Given the description of an element on the screen output the (x, y) to click on. 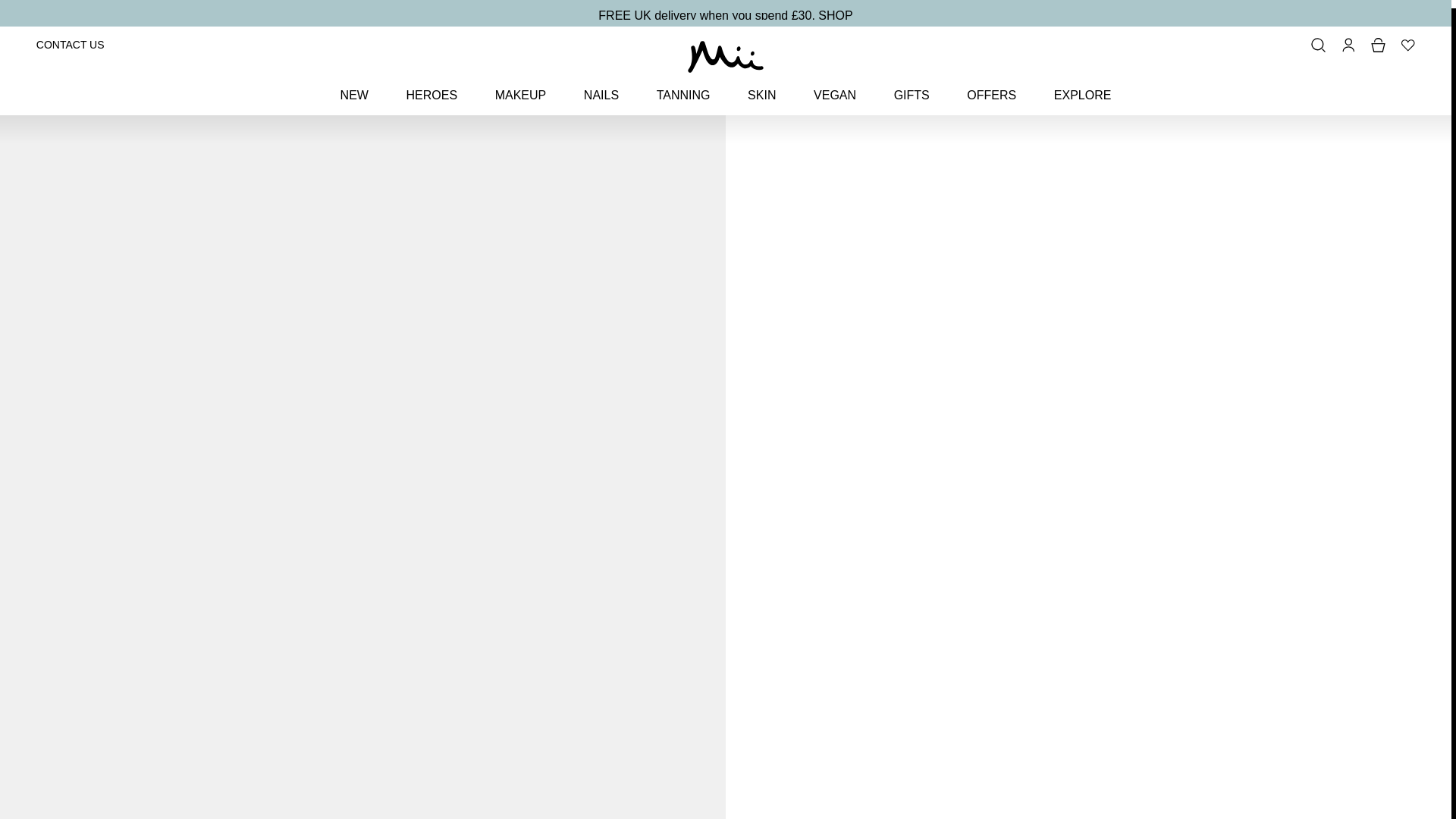
CONTACT US (70, 36)
HEROES (431, 87)
SHOP (834, 6)
MAKEUP (520, 87)
NEW (354, 87)
